Given the description of an element on the screen output the (x, y) to click on. 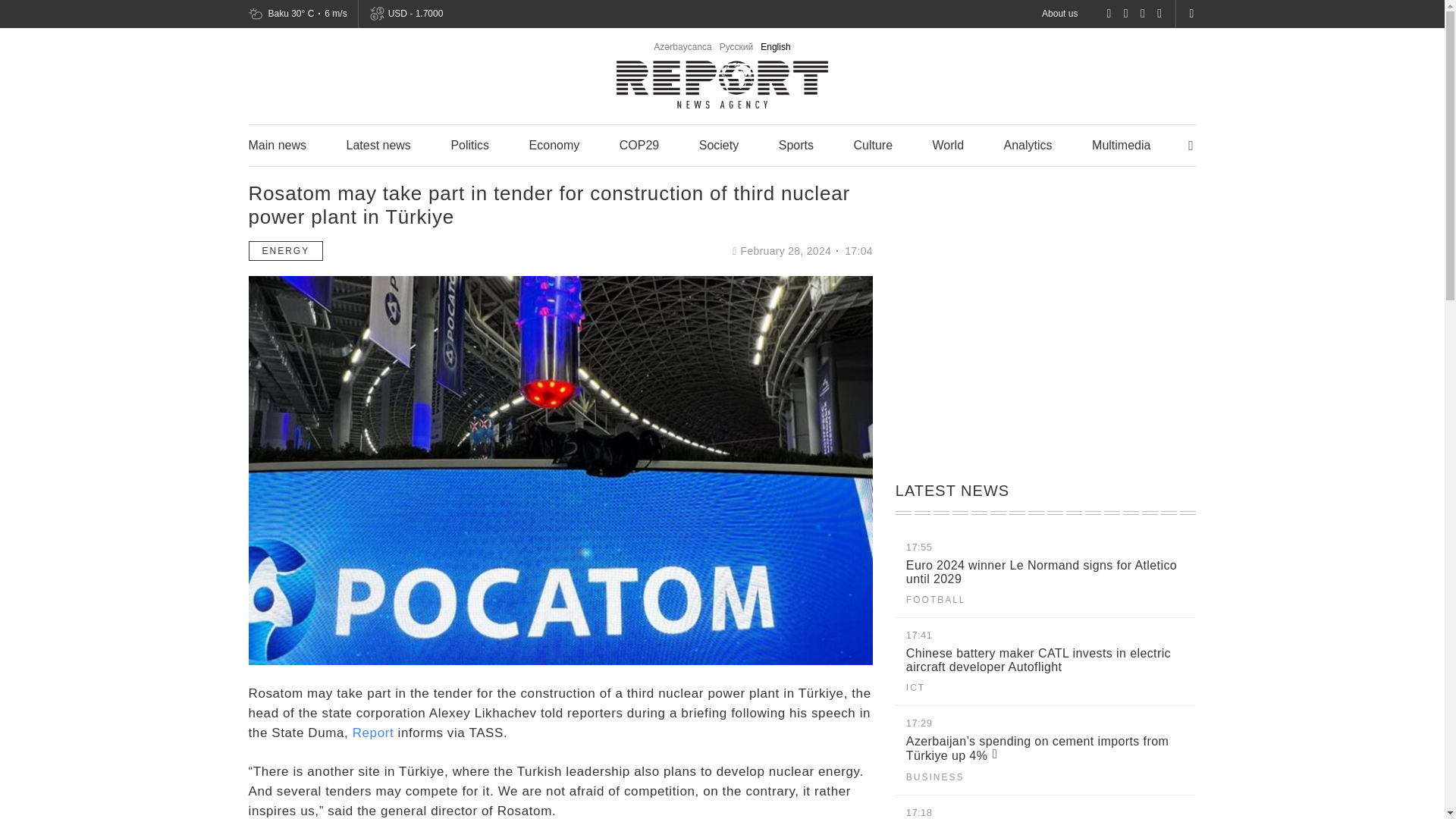
Multimedia (1121, 144)
World (948, 144)
COP29 (639, 144)
USD - 1.7000 (414, 13)
Latest news (378, 144)
About us (1059, 13)
Analytics (1028, 144)
Economy (554, 144)
Society (718, 144)
Sports (795, 144)
